Given the description of an element on the screen output the (x, y) to click on. 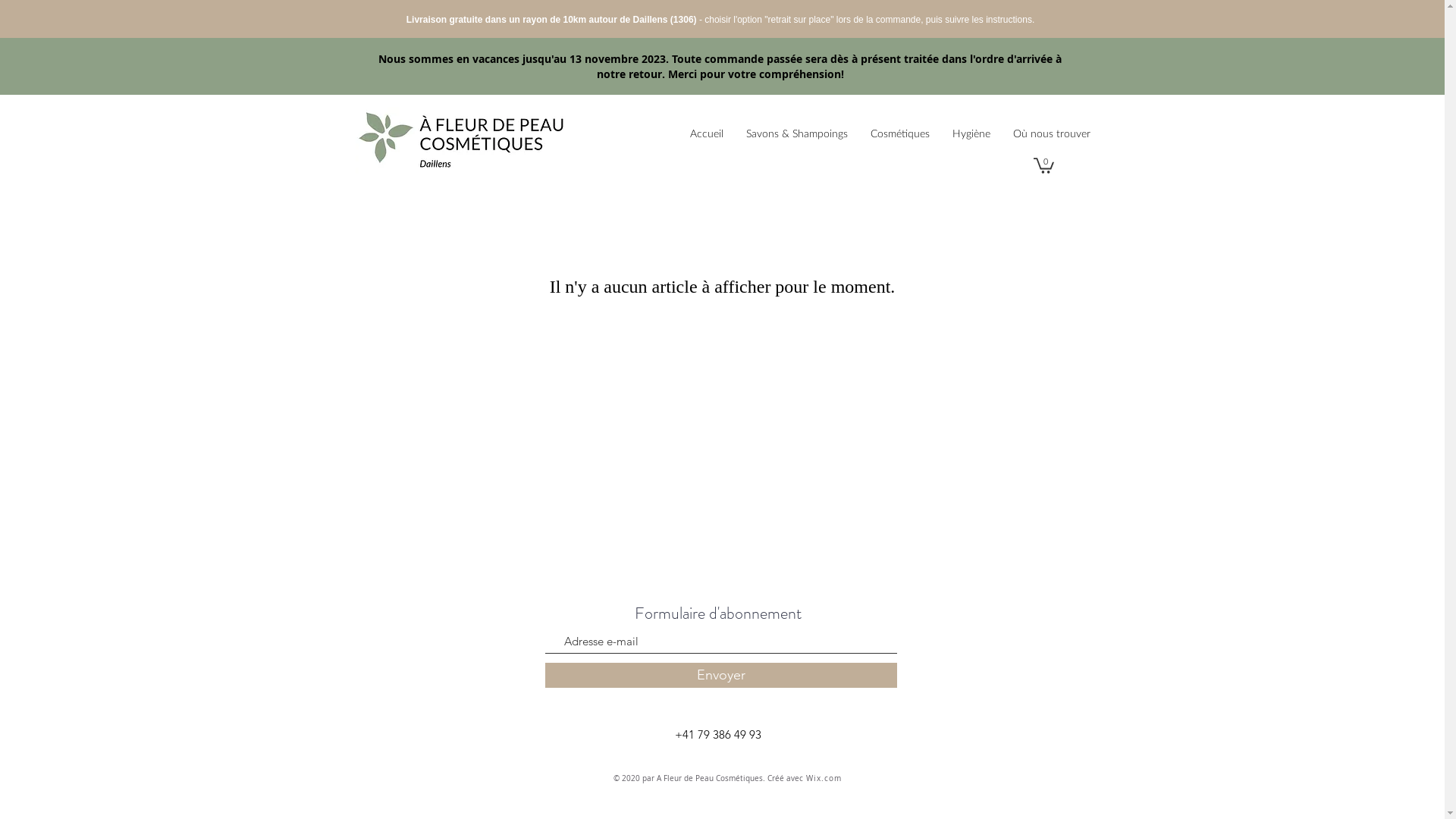
A Fleur de Peau Cosmetiques.jpg Element type: hover (458, 133)
Envoyer Element type: text (720, 674)
Accueil Element type: text (705, 134)
0 Element type: text (1042, 164)
Wix.com Element type: text (822, 778)
